Given the description of an element on the screen output the (x, y) to click on. 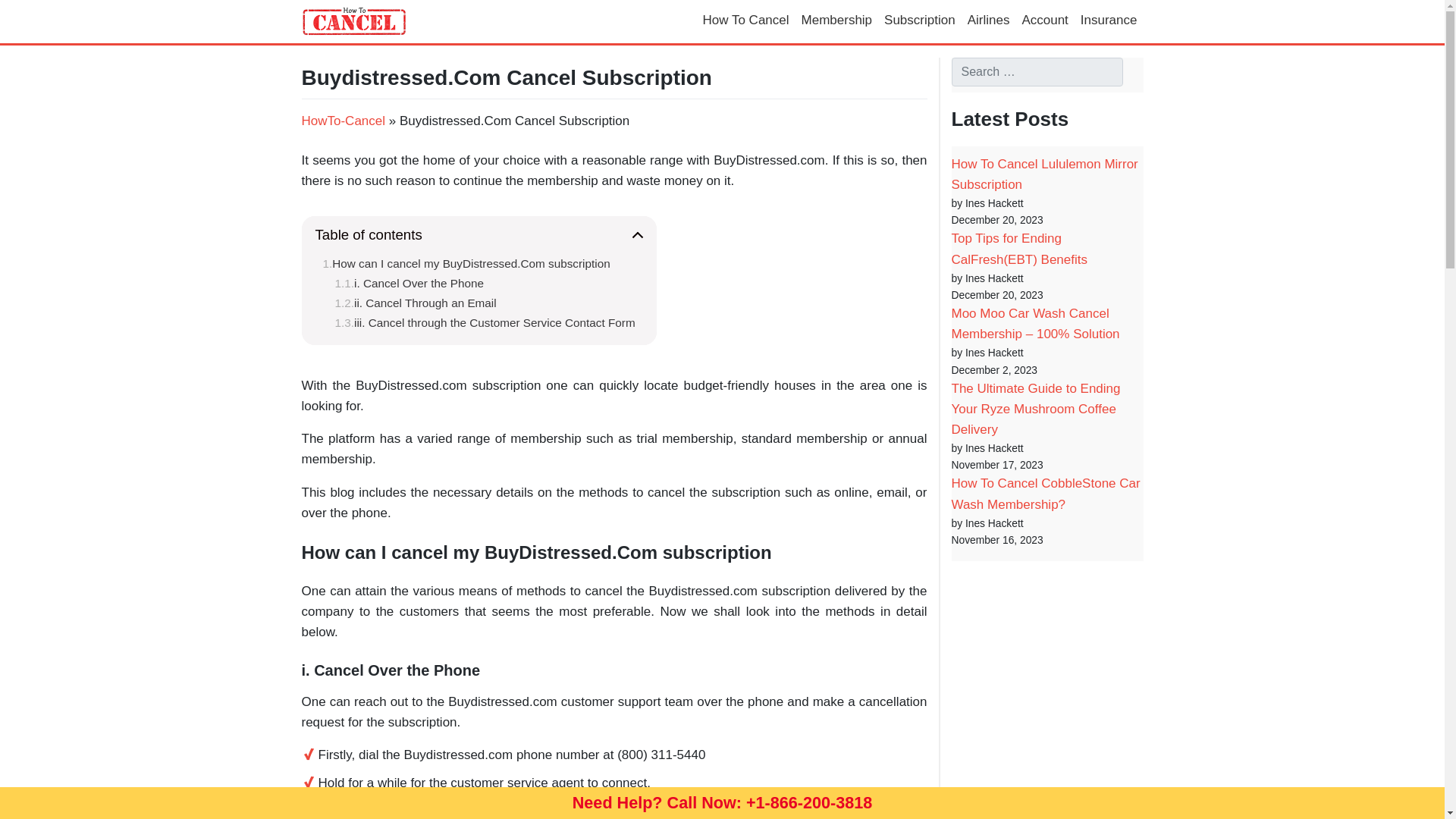
Insurance (1108, 21)
How To Cancel (744, 21)
How To Cancel (744, 21)
Search (29, 14)
Membership (836, 21)
Airlines (988, 21)
Airlines (988, 21)
Account (1044, 21)
Membership (836, 21)
Subscription (918, 21)
Insurance (1108, 21)
Search for: (1036, 71)
Account (1044, 21)
Subscription (918, 21)
